Given the description of an element on the screen output the (x, y) to click on. 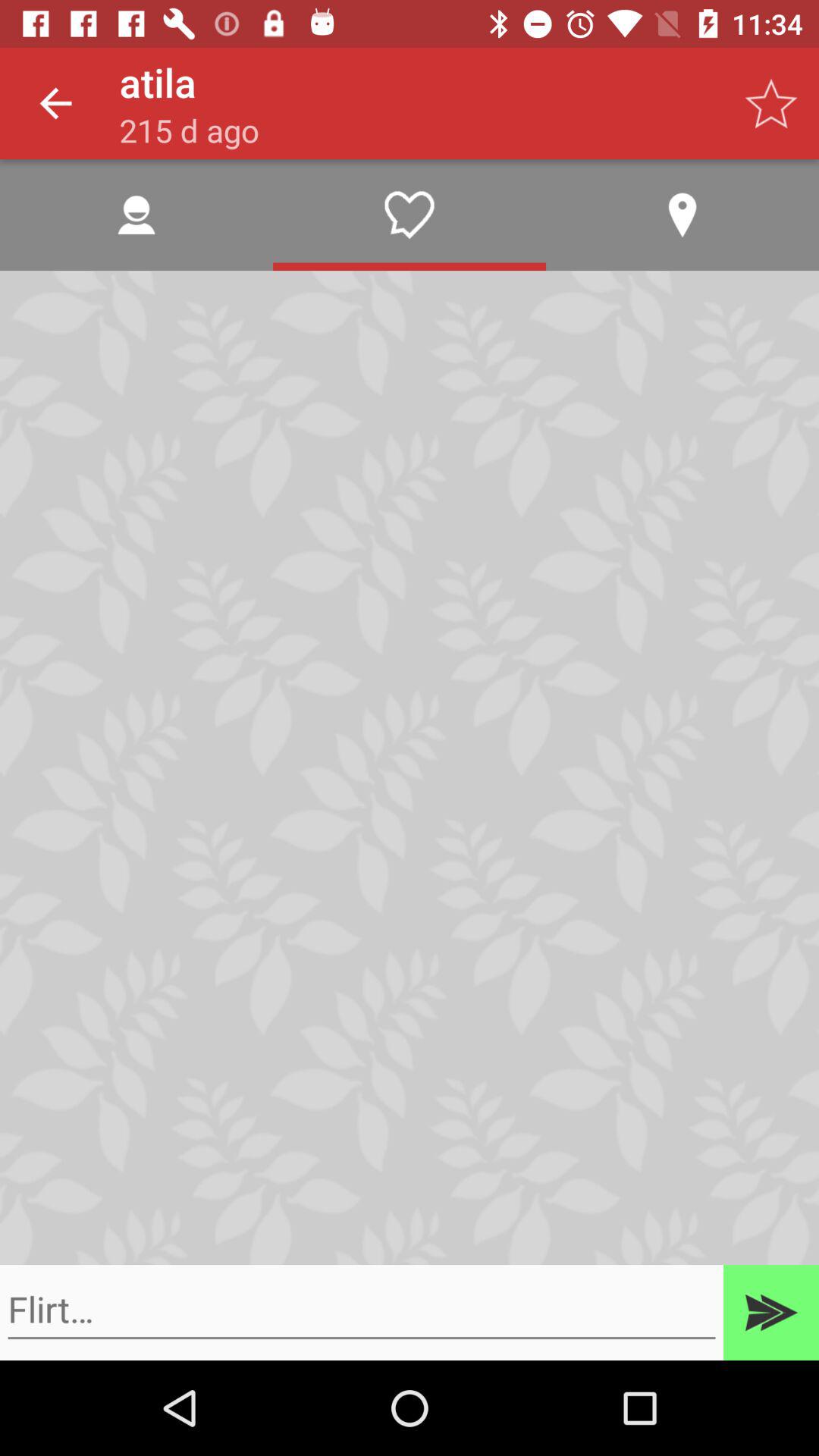
send (771, 1312)
